Given the description of an element on the screen output the (x, y) to click on. 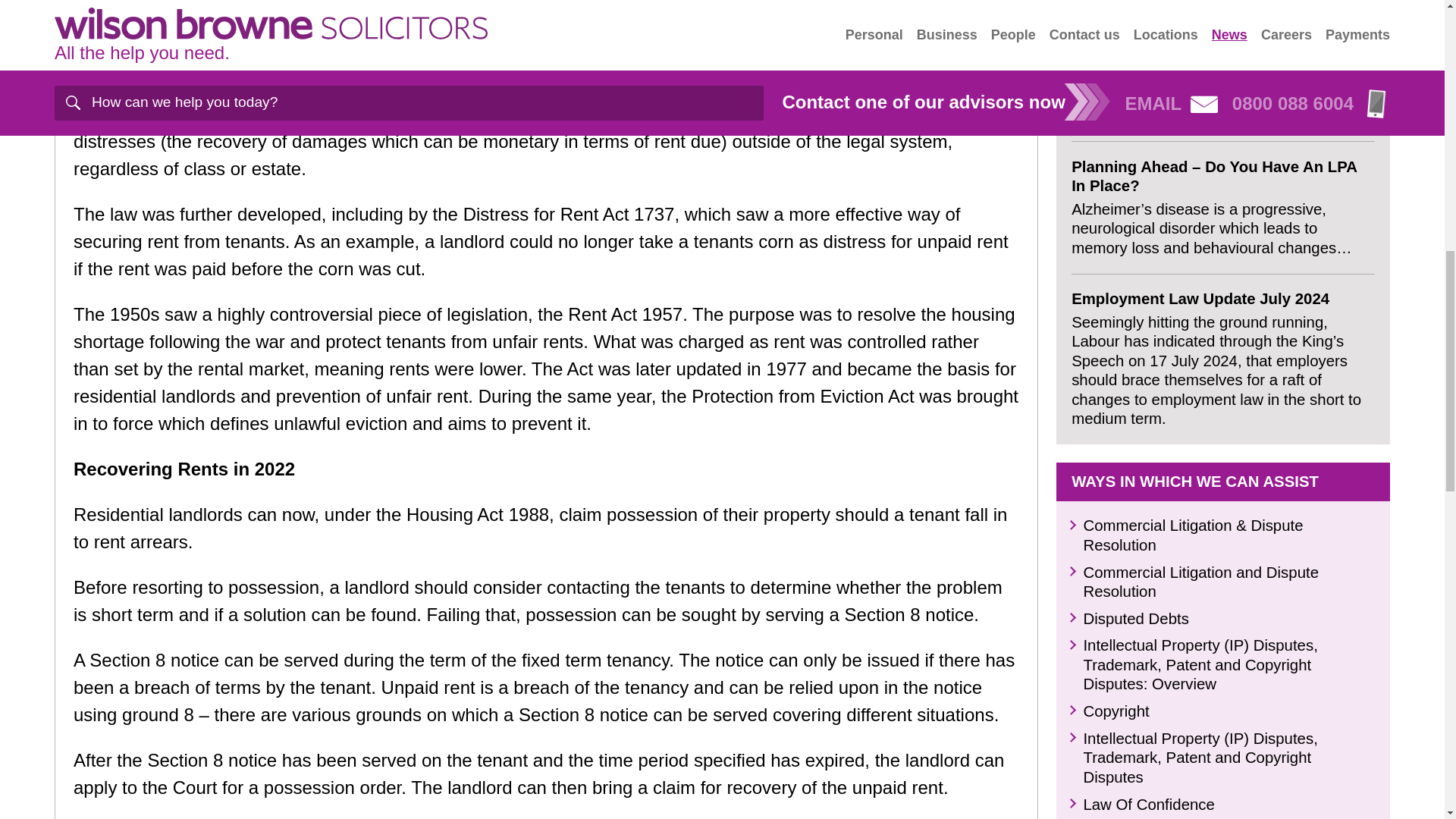
Passing-Off (1123, 353)
Commercial Litigation and Dispute Resolution (1201, 104)
Professional Negligence (1166, 462)
Disputed Debts (1135, 141)
Law Of Confidence (1148, 327)
Copyright (1115, 234)
Trade Marks (1126, 381)
